Given the description of an element on the screen output the (x, y) to click on. 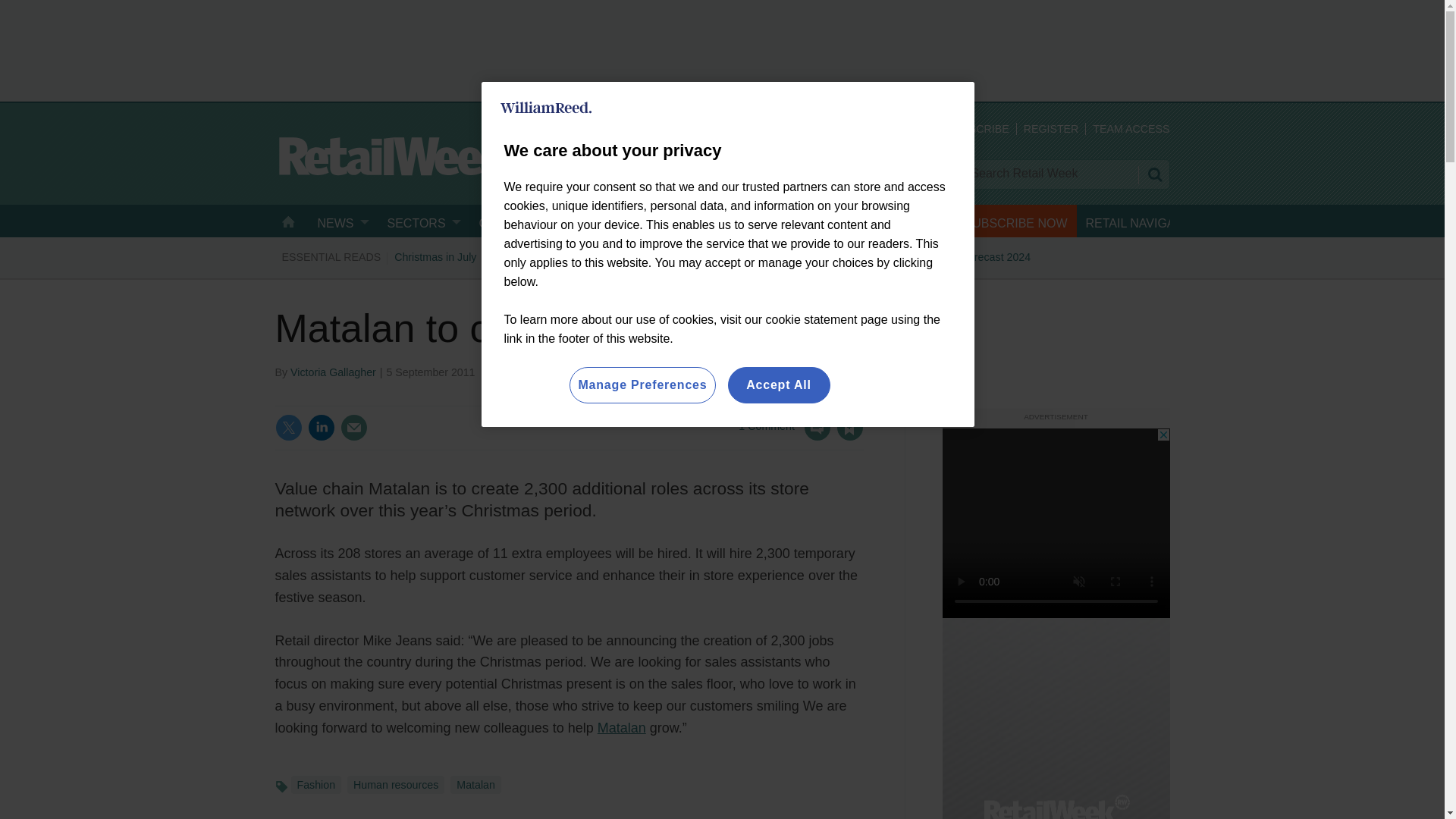
TEAM ACCESS (1131, 128)
Christmas Forecast 2024 (969, 256)
SIGN IN (901, 128)
William Reed (545, 107)
Retail 100 (513, 256)
REGISTER (1050, 128)
Innovation of the Week (708, 256)
AI Adopters report (595, 256)
1 Comment (784, 436)
Shopper Unlocked report (836, 256)
3rd party ad content (1055, 523)
3rd party ad content (721, 48)
Share this on Twitter (288, 427)
SUBSCRIBE (977, 128)
Email this article (352, 427)
